Given the description of an element on the screen output the (x, y) to click on. 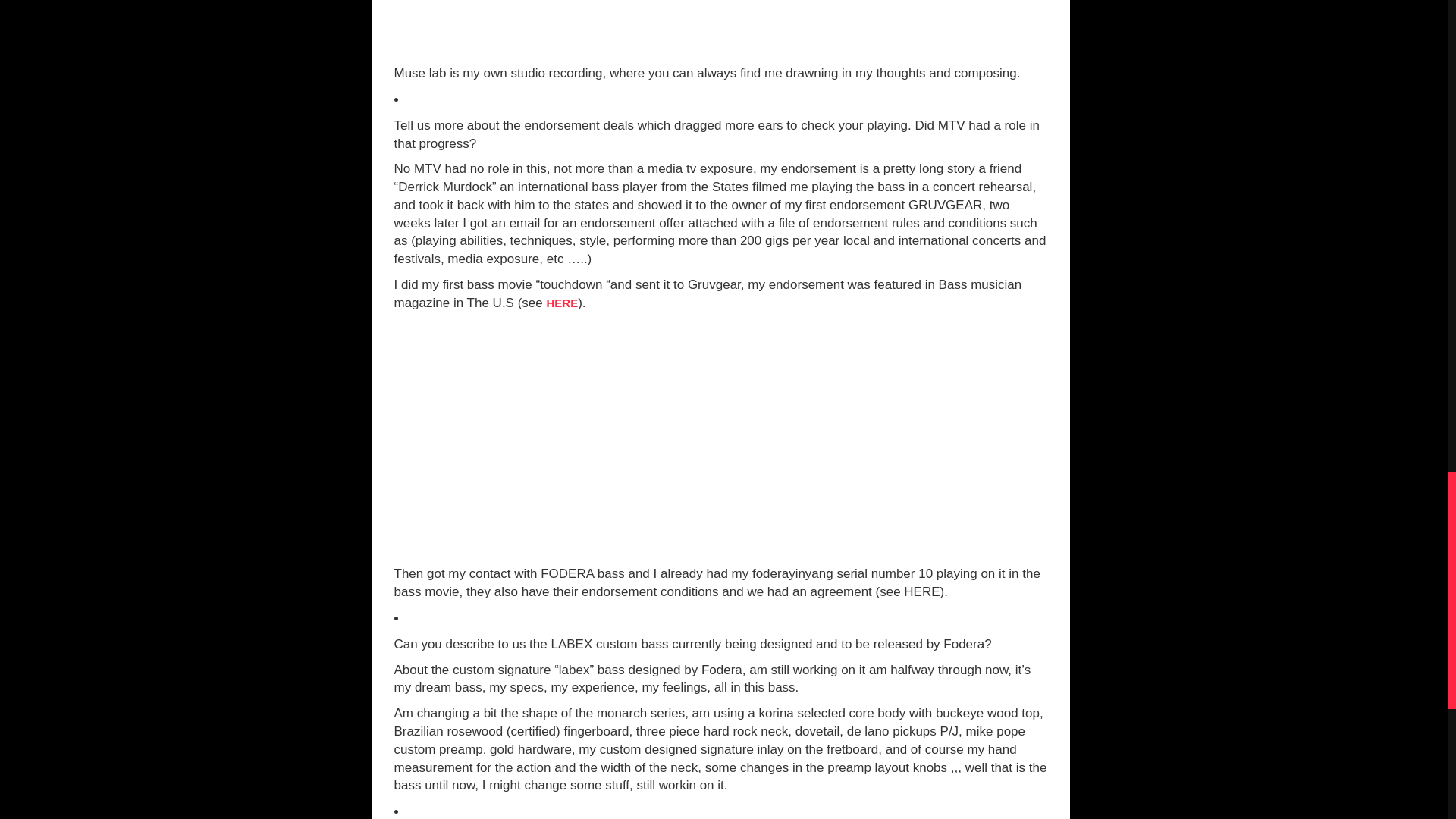
HERE (562, 302)
